Given the description of an element on the screen output the (x, y) to click on. 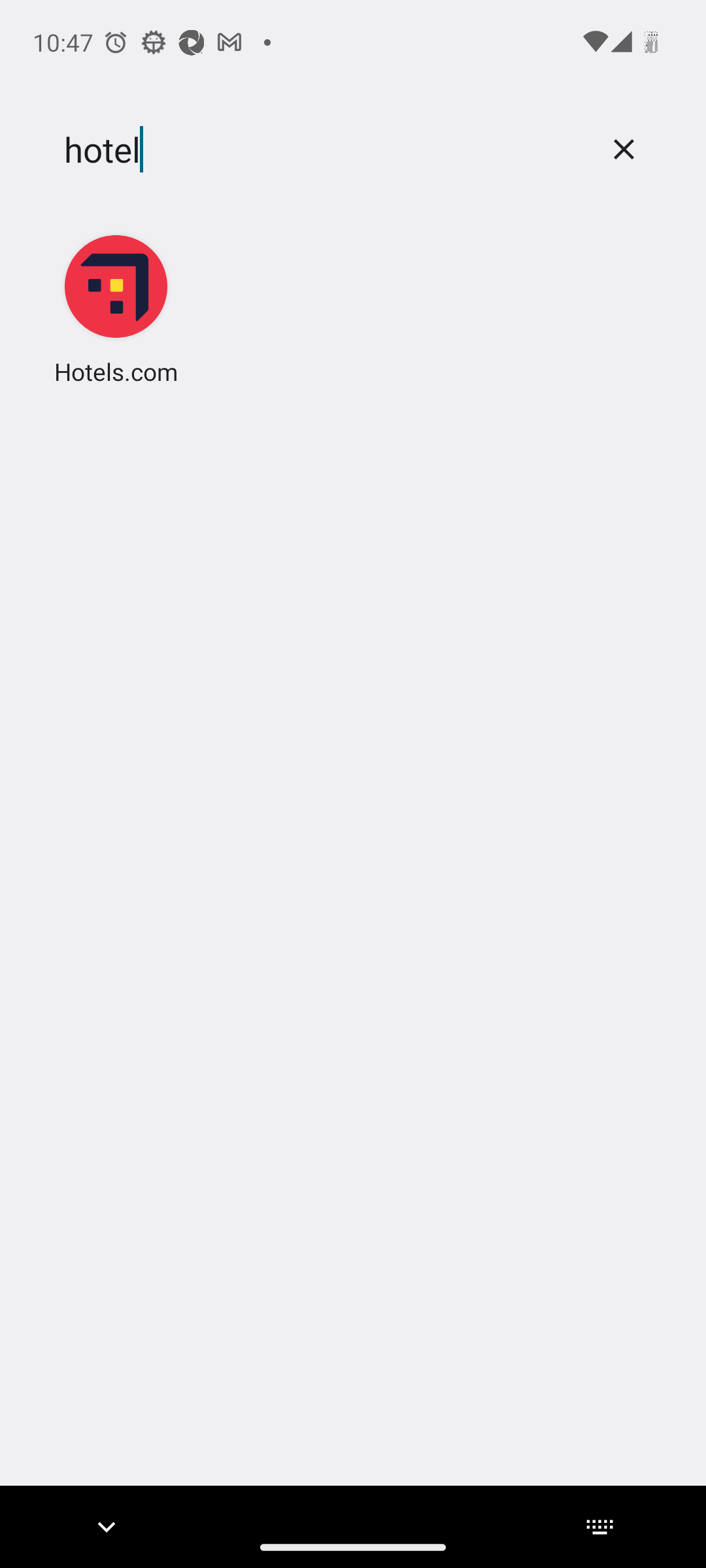
hotel (321, 149)
Clear search box (623, 149)
Hotels.com (115, 308)
